Given the description of an element on the screen output the (x, y) to click on. 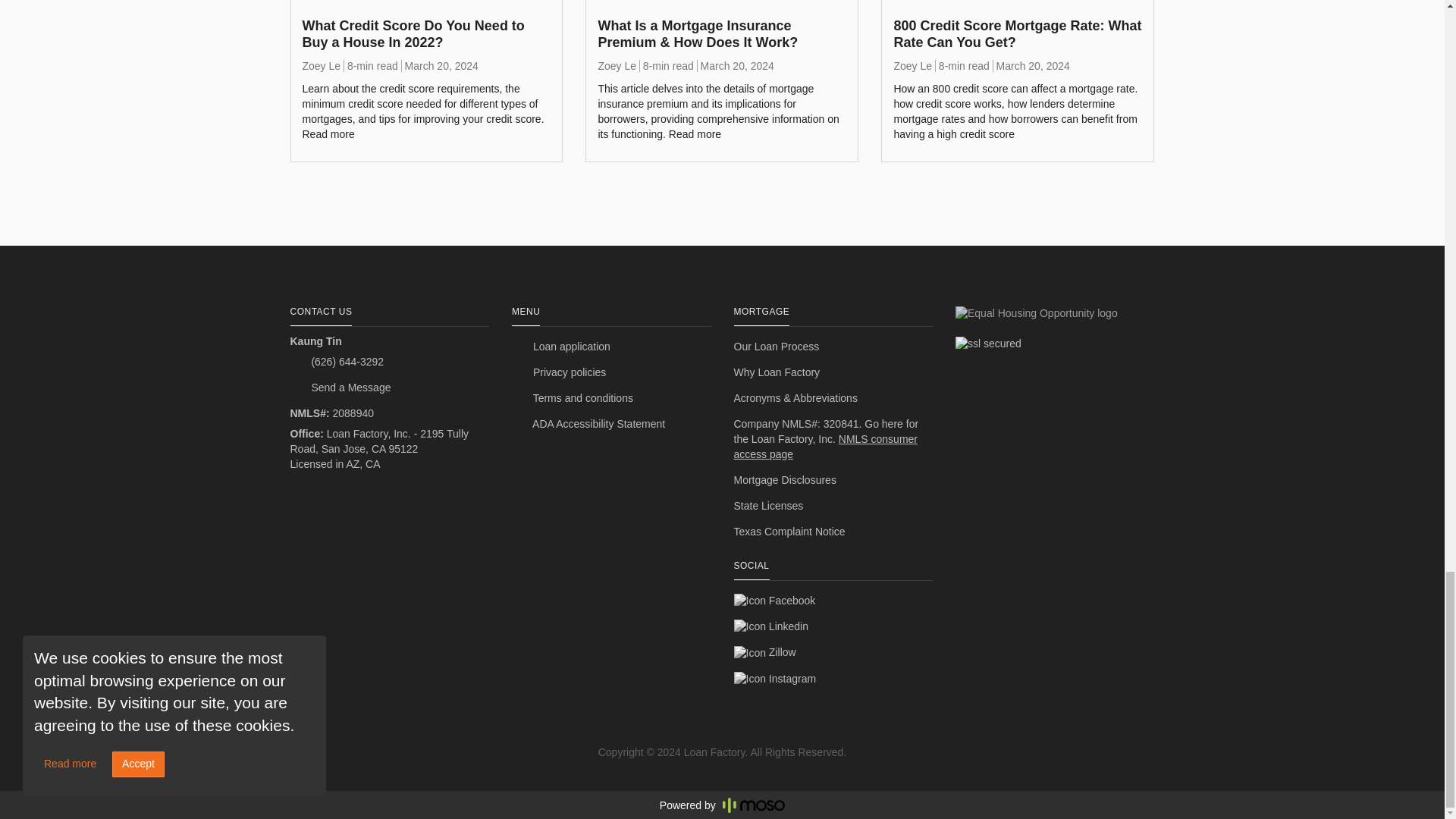
Terms and conditions (611, 398)
ADA Accessibility Statement (611, 424)
Loan application (611, 347)
Our Loan Process (833, 347)
Linkedin (833, 626)
State Licenses (833, 506)
Why Loan Factory (833, 372)
Texas Complaint Notice (833, 532)
Facebook (833, 601)
Privacy policies (611, 372)
Mortgage Disclosures (833, 480)
Send a Message (389, 388)
